Given the description of an element on the screen output the (x, y) to click on. 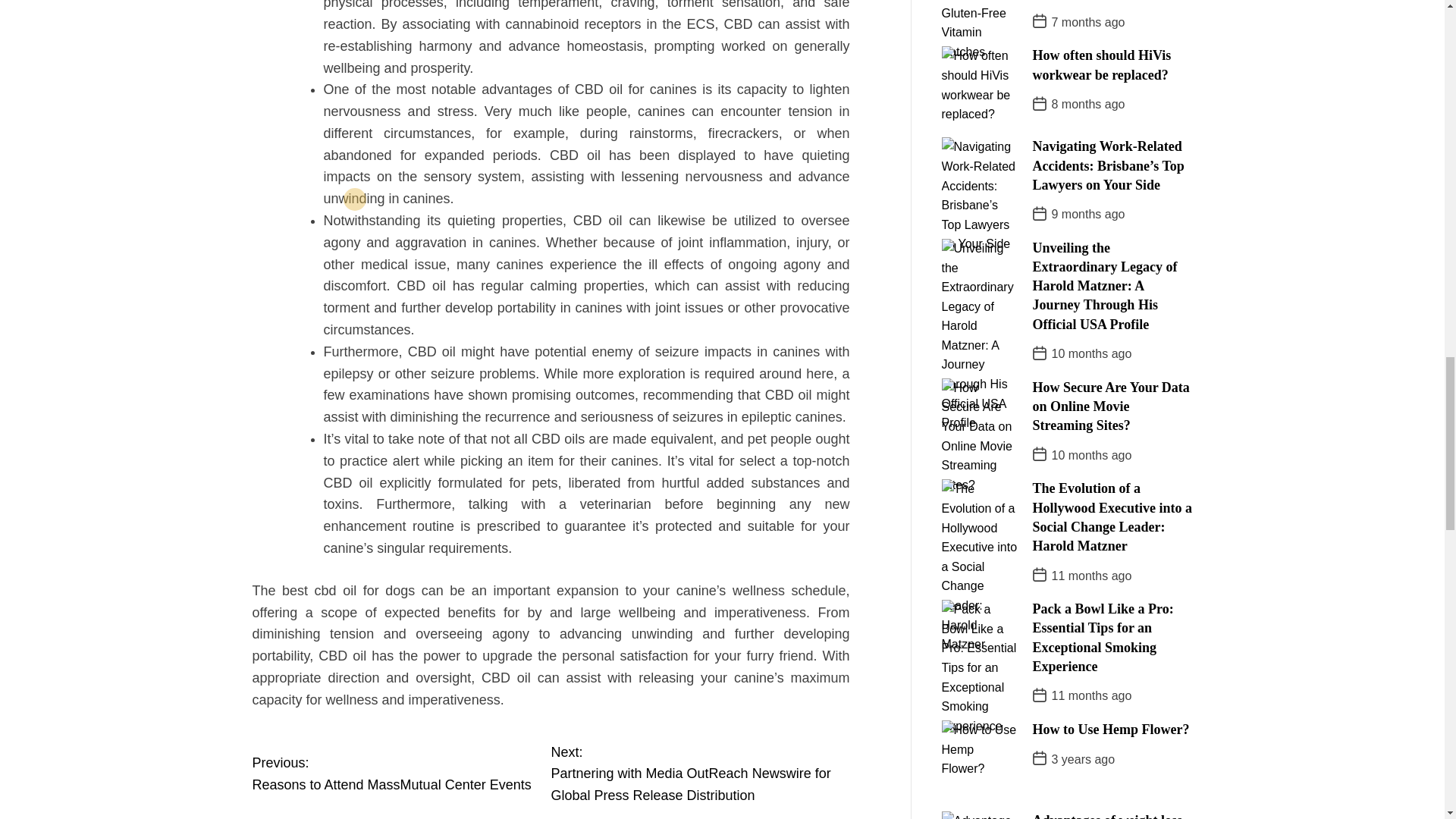
Keno (325, 612)
Keno (601, 623)
Keno (601, 623)
